Given the description of an element on the screen output the (x, y) to click on. 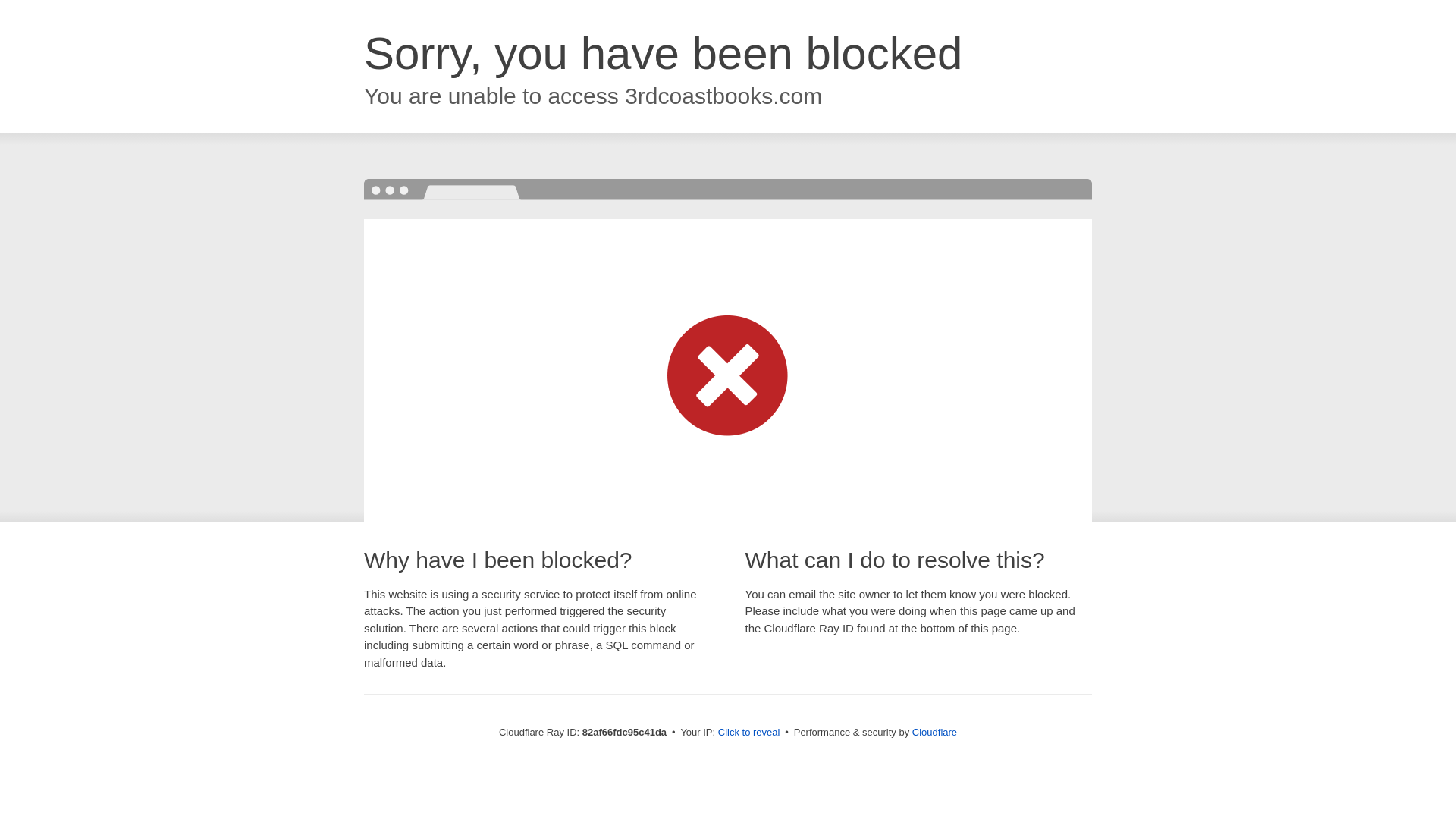
Click to reveal Element type: text (749, 732)
Cloudflare Element type: text (934, 731)
